Given the description of an element on the screen output the (x, y) to click on. 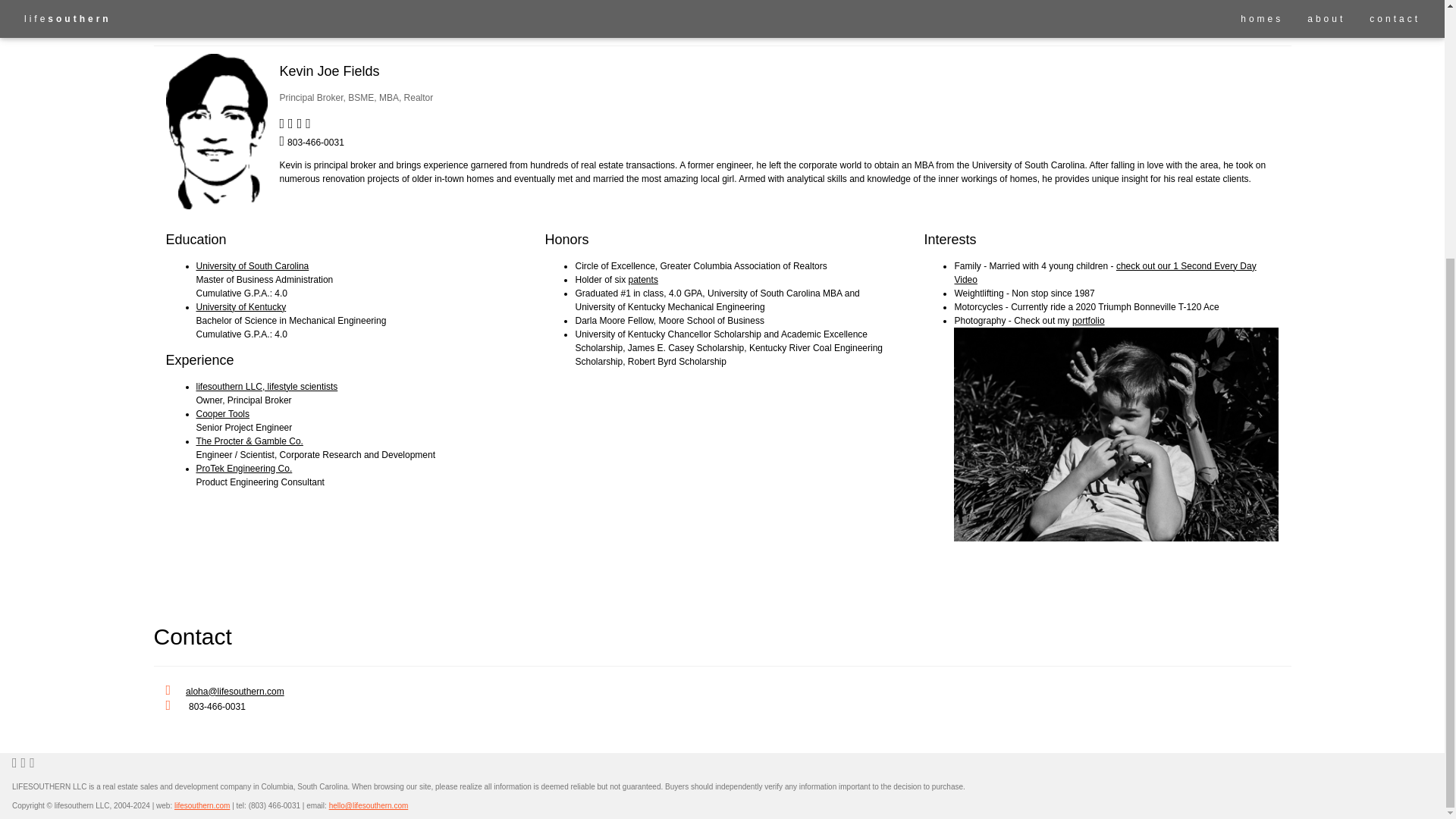
University of South Carolina (251, 266)
lifesouthern.com (202, 805)
lifesouthern LLC, lifestyle scientists (266, 386)
portfolio (1088, 320)
ProTek Engineering Co. (243, 468)
patents (643, 279)
University of Kentucky (240, 307)
check out our 1 Second Every Day Video (1104, 273)
Cooper Tools (221, 413)
Photography Portfolio (1088, 320)
